Given the description of an element on the screen output the (x, y) to click on. 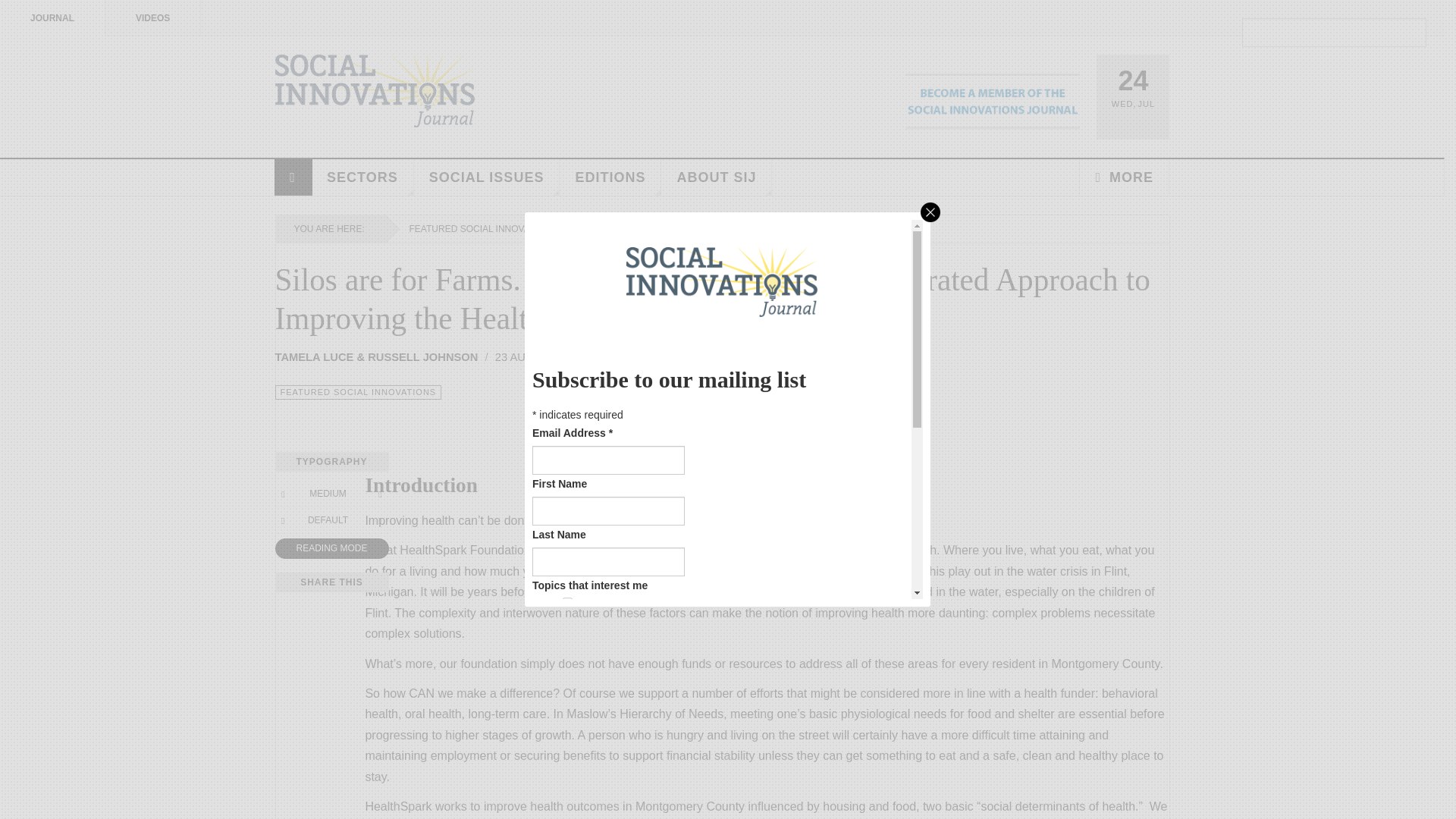
2 (567, 624)
16 (567, 690)
Social Innovation Journal (374, 90)
4 (567, 646)
256 (567, 777)
32 (567, 712)
1 (567, 602)
64 (567, 734)
128 (567, 756)
512 (567, 800)
8 (567, 668)
